Given the description of an element on the screen output the (x, y) to click on. 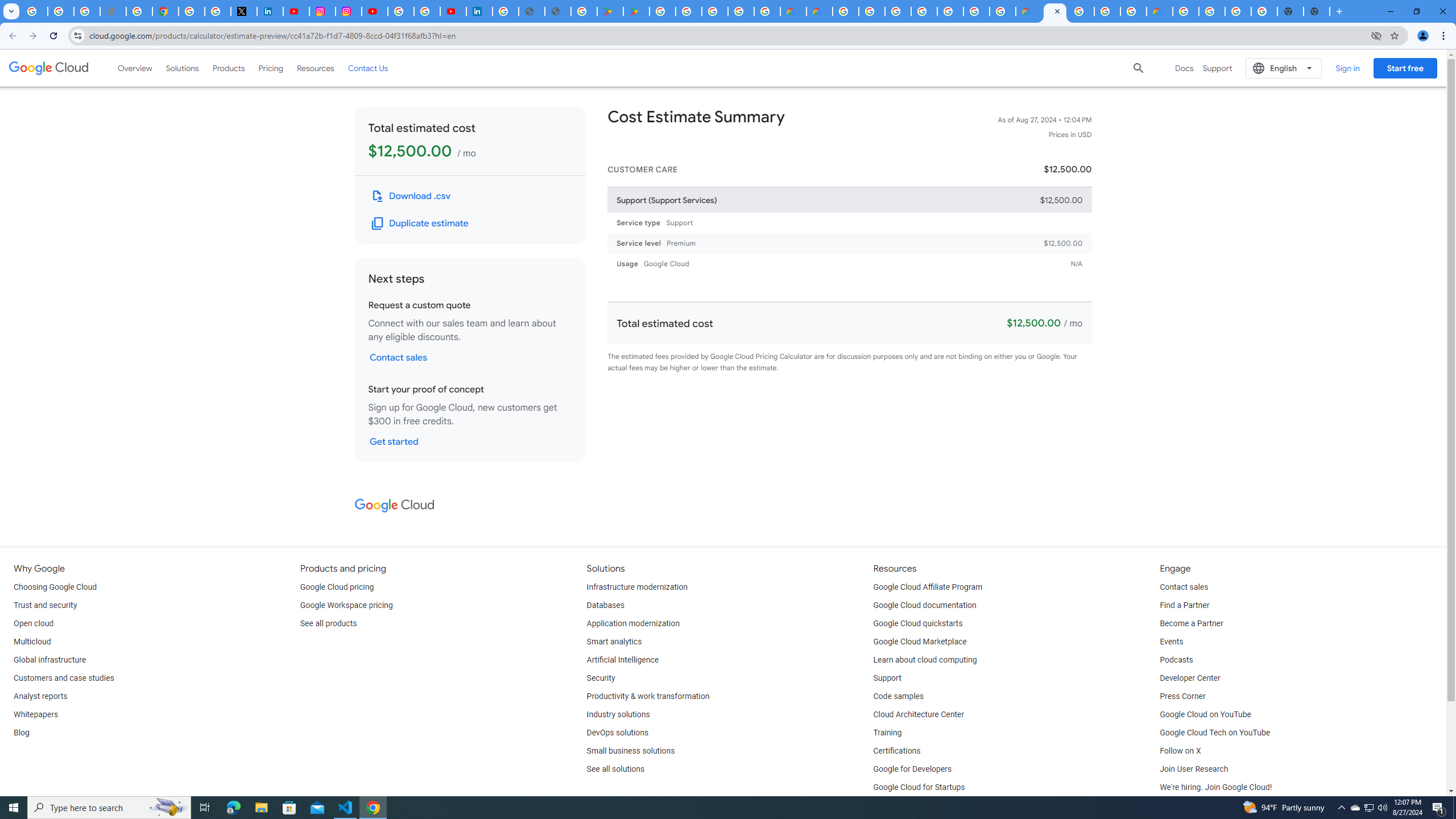
Google Cloud Service Health (1159, 11)
Google Cloud Platform (976, 11)
Google Cloud for Startups (919, 787)
google_privacy_policy_en.pdf (531, 11)
Start free (1405, 67)
Google Cloud documentation (924, 605)
Customer Care | Google Cloud (792, 11)
Contact sales (1183, 587)
Sign in - Google Accounts (897, 11)
Open cloud (33, 624)
